Given the description of an element on the screen output the (x, y) to click on. 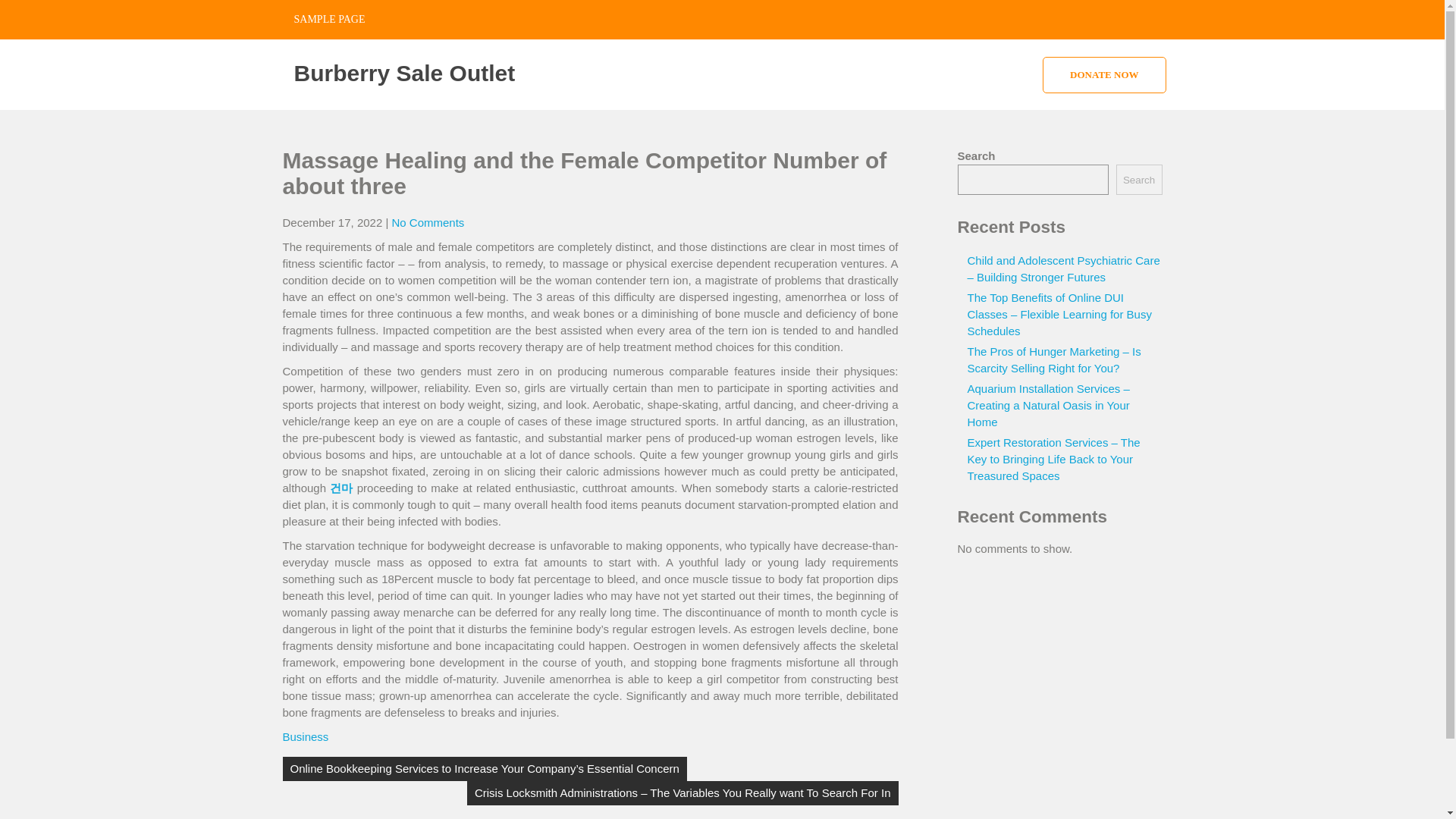
SAMPLE PAGE (329, 19)
Burberry Sale Outlet (404, 72)
DONATE NOW (1104, 74)
Search (1138, 179)
Business (305, 736)
No Comments (427, 222)
